Given the description of an element on the screen output the (x, y) to click on. 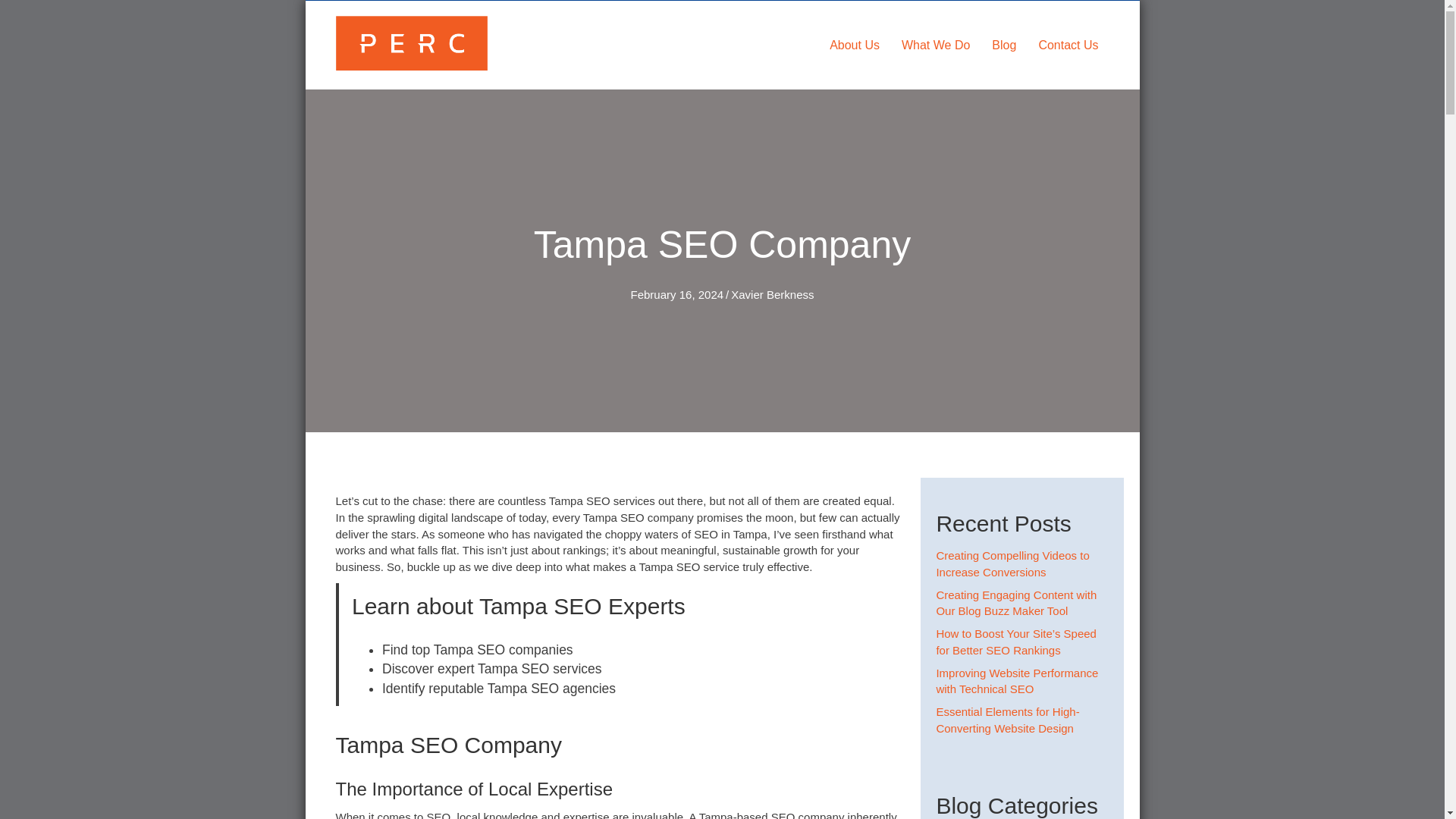
Creating Engaging Content with Our Blog Buzz Maker Tool (1016, 603)
About Us (853, 45)
Improving Website Performance with Technical SEO (1016, 681)
Xavier Berkness (771, 294)
Blog (1003, 45)
What We Do (935, 45)
Contact Us (1067, 45)
Essential Elements for High-Converting Website Design (1007, 719)
Creating Compelling Videos to Increase Conversions (1012, 563)
